Given the description of an element on the screen output the (x, y) to click on. 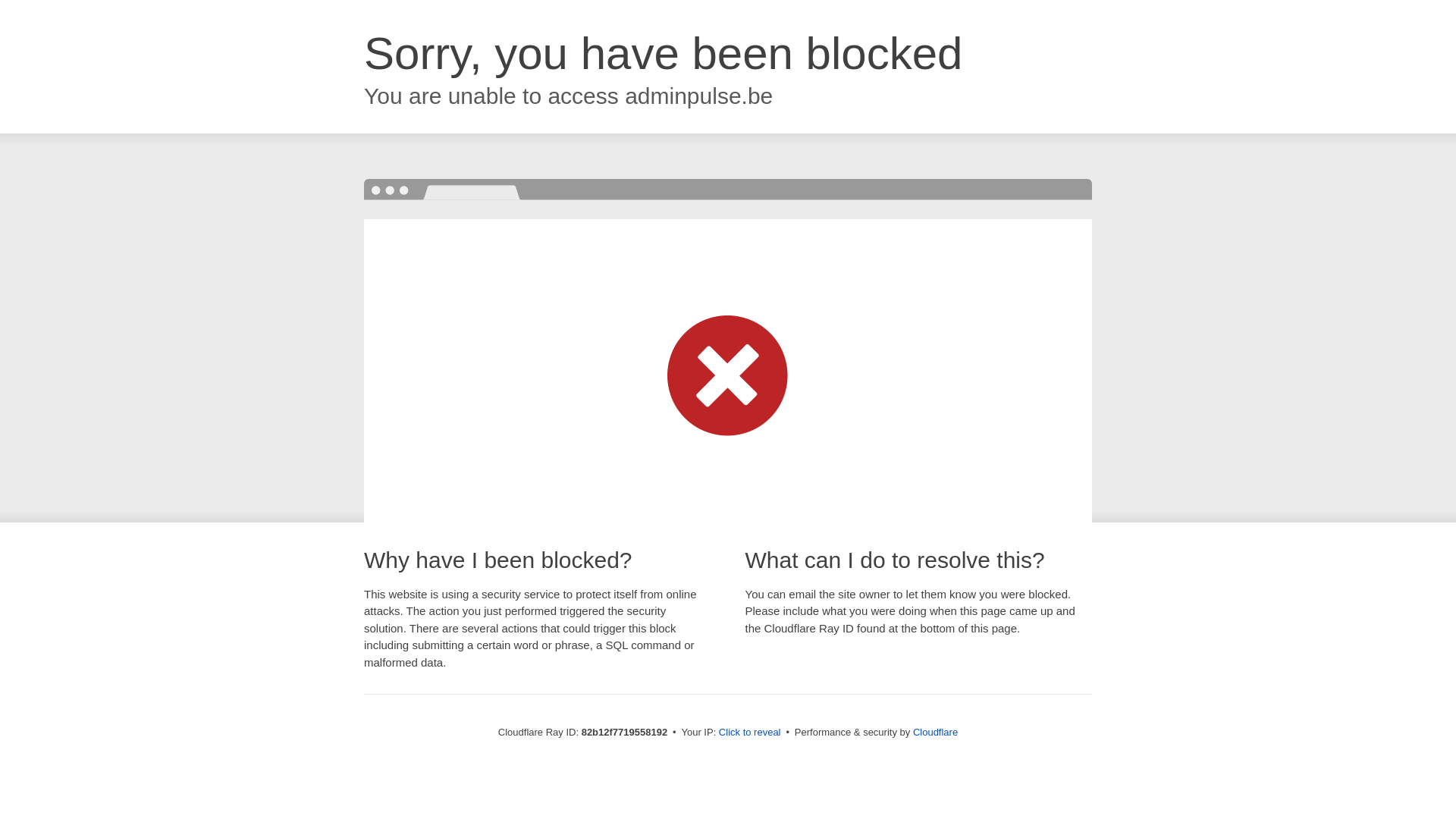
Cloudflare Element type: text (935, 731)
Click to reveal Element type: text (749, 732)
